Given the description of an element on the screen output the (x, y) to click on. 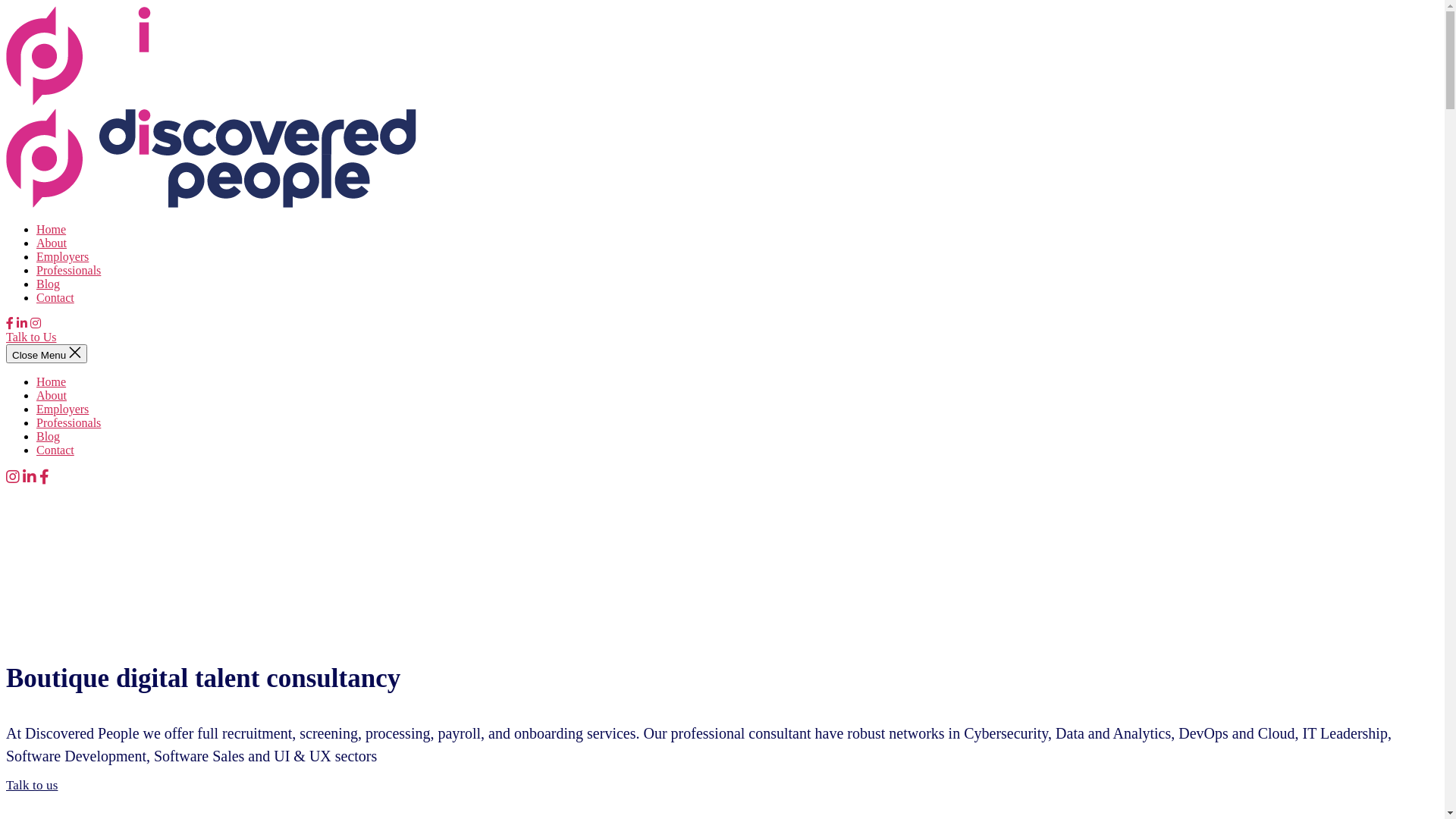
Home Element type: text (50, 381)
Employers Element type: text (62, 408)
Blog Element type: text (47, 435)
Contact Element type: text (55, 449)
Employers Element type: text (62, 256)
Professionals Element type: text (68, 422)
Close Menu Element type: text (46, 353)
Blog Element type: text (47, 283)
Contact Element type: text (55, 297)
Home Element type: text (50, 228)
Professionals Element type: text (68, 269)
Talk to Us Element type: text (31, 336)
About Element type: text (51, 242)
Talk to us Element type: text (31, 785)
About Element type: text (51, 395)
